Given the description of an element on the screen output the (x, y) to click on. 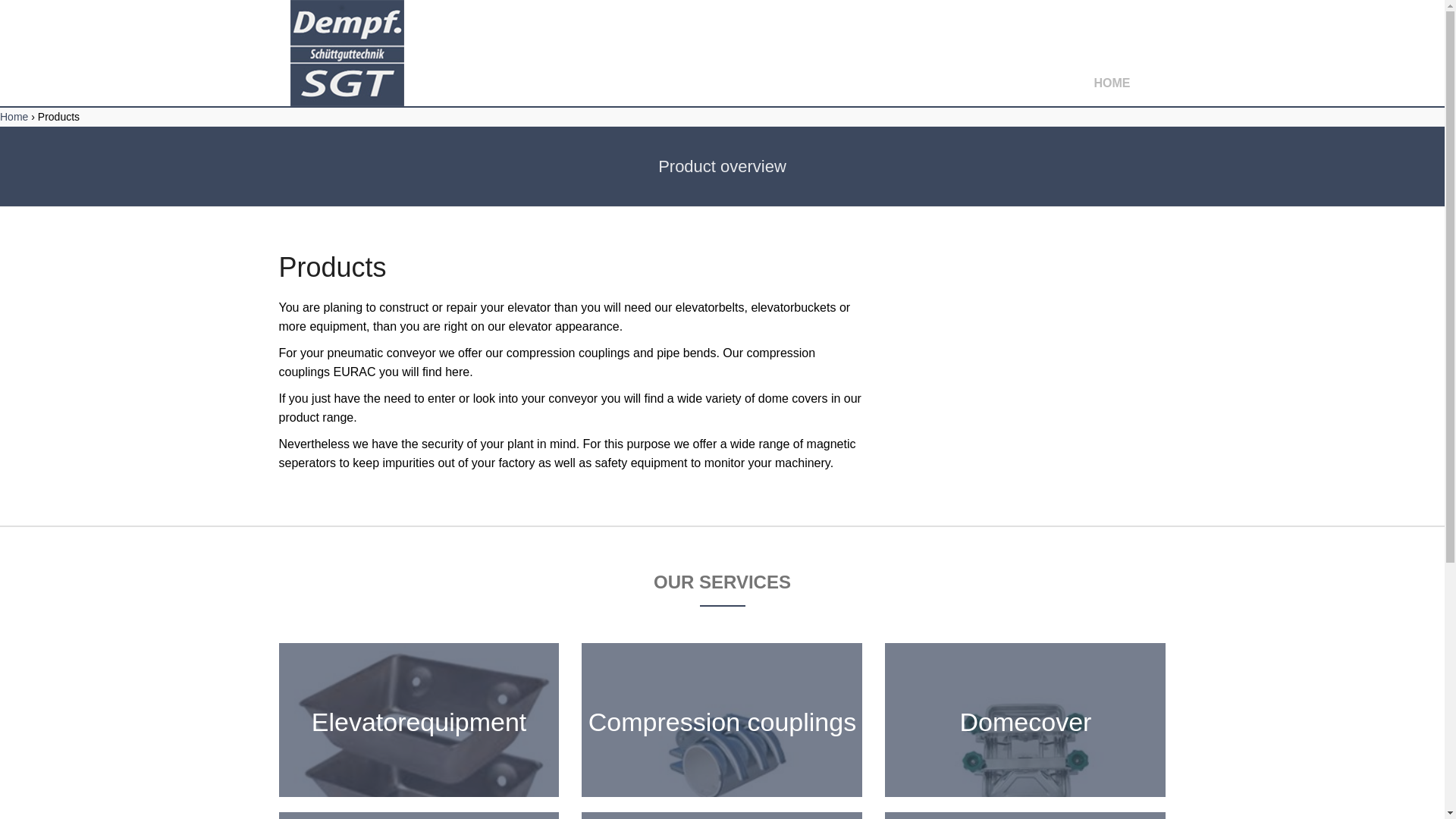
Compression couplings (720, 719)
Home (13, 116)
Domecover (1025, 719)
Pipe systems (720, 815)
Elevatorequipment (419, 719)
Home (13, 116)
Tankequipment (419, 815)
Magnet systems (1025, 815)
